Given the description of an element on the screen output the (x, y) to click on. 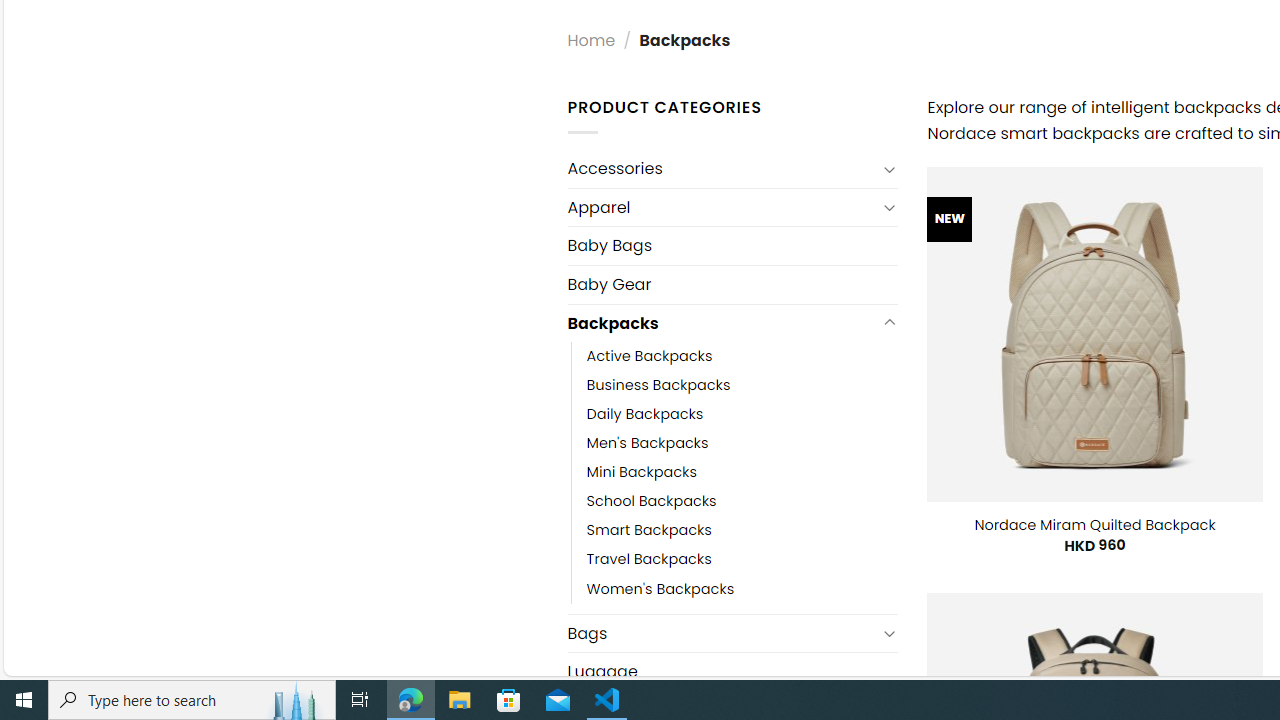
Baby Bags (732, 245)
Daily Backpacks (645, 414)
Smart Backpacks (742, 530)
Men's Backpacks (647, 444)
School Backpacks (651, 501)
